Given the description of an element on the screen output the (x, y) to click on. 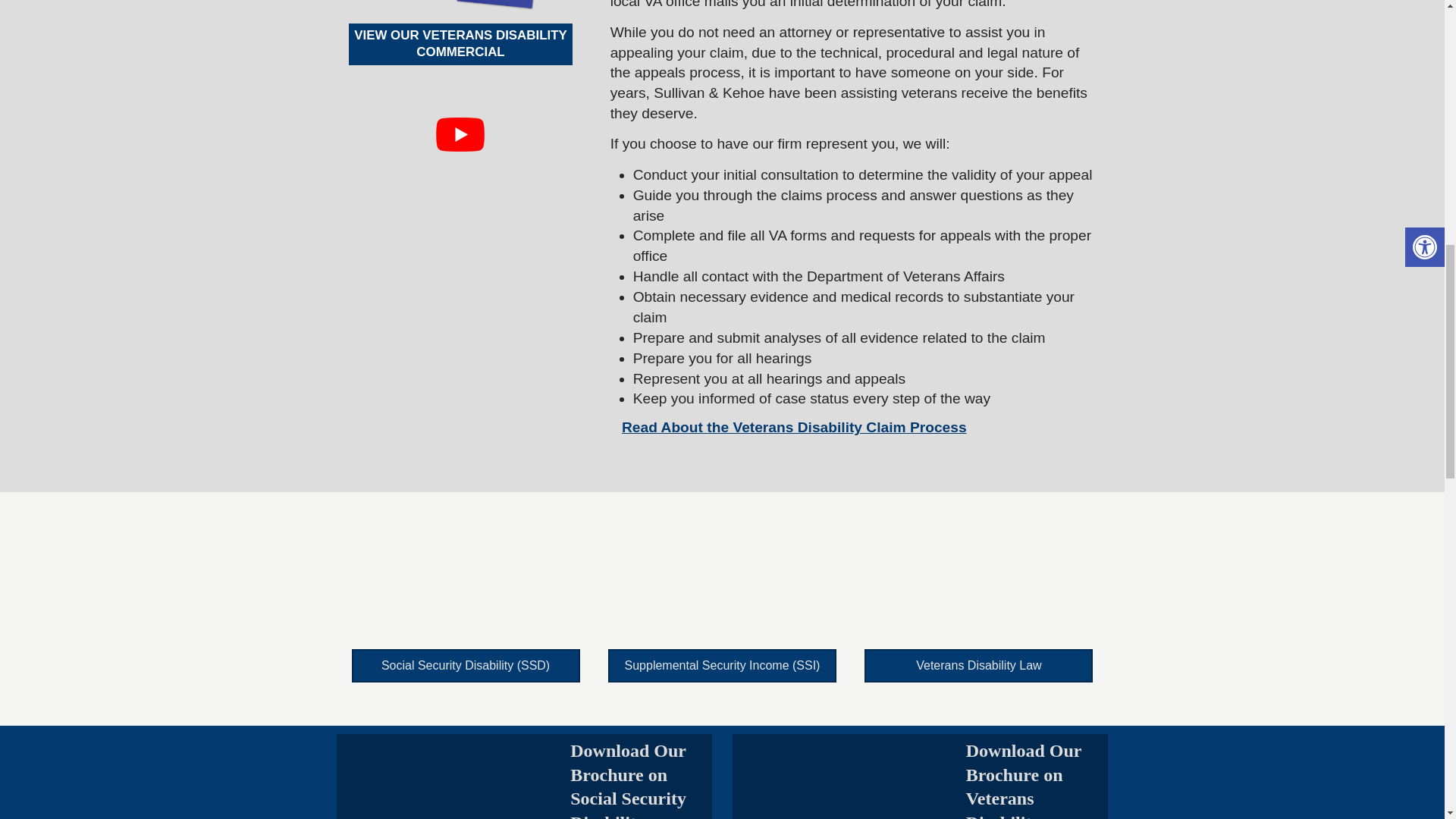
Read About the Veterans Disability Claim Process (793, 426)
Veterans Disability Law (978, 592)
Download Our Brochure on Social Security Disability (453, 776)
Download Our Brochure on Veterans Disability (849, 776)
Veterans Disability Law (978, 665)
Download Our Brochure on Veterans Disability (461, 8)
Download Our Brochure on Social Security Disability (627, 780)
